Given the description of an element on the screen output the (x, y) to click on. 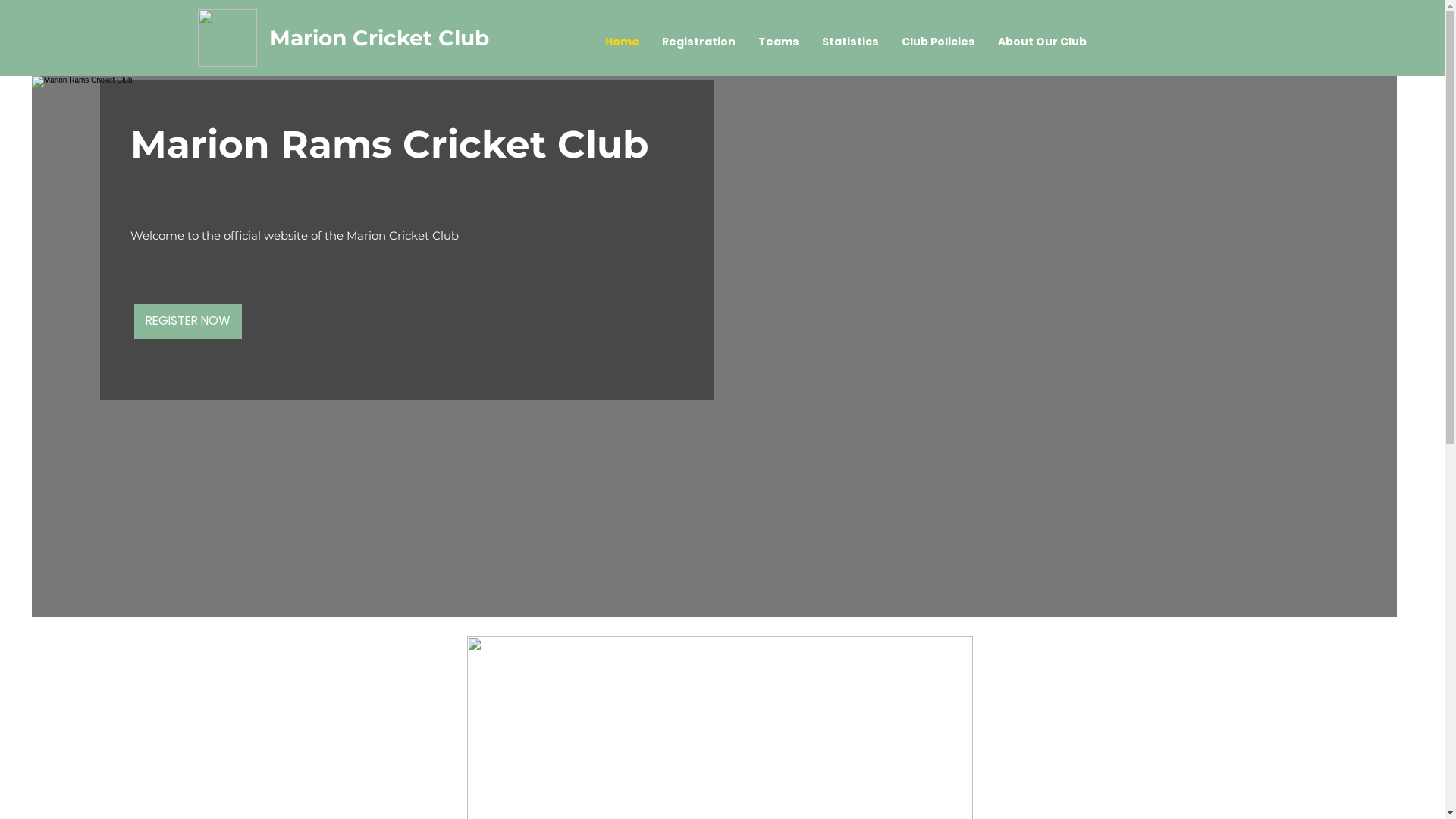
Registration Element type: text (698, 42)
Home Element type: text (621, 42)
Statistics Element type: text (850, 42)
Marion Cricket Club Element type: text (379, 37)
About Our Club Element type: text (1042, 42)
REGISTER NOW Element type: text (187, 321)
Teams Element type: text (778, 42)
Club Policies Element type: text (938, 42)
